Given the description of an element on the screen output the (x, y) to click on. 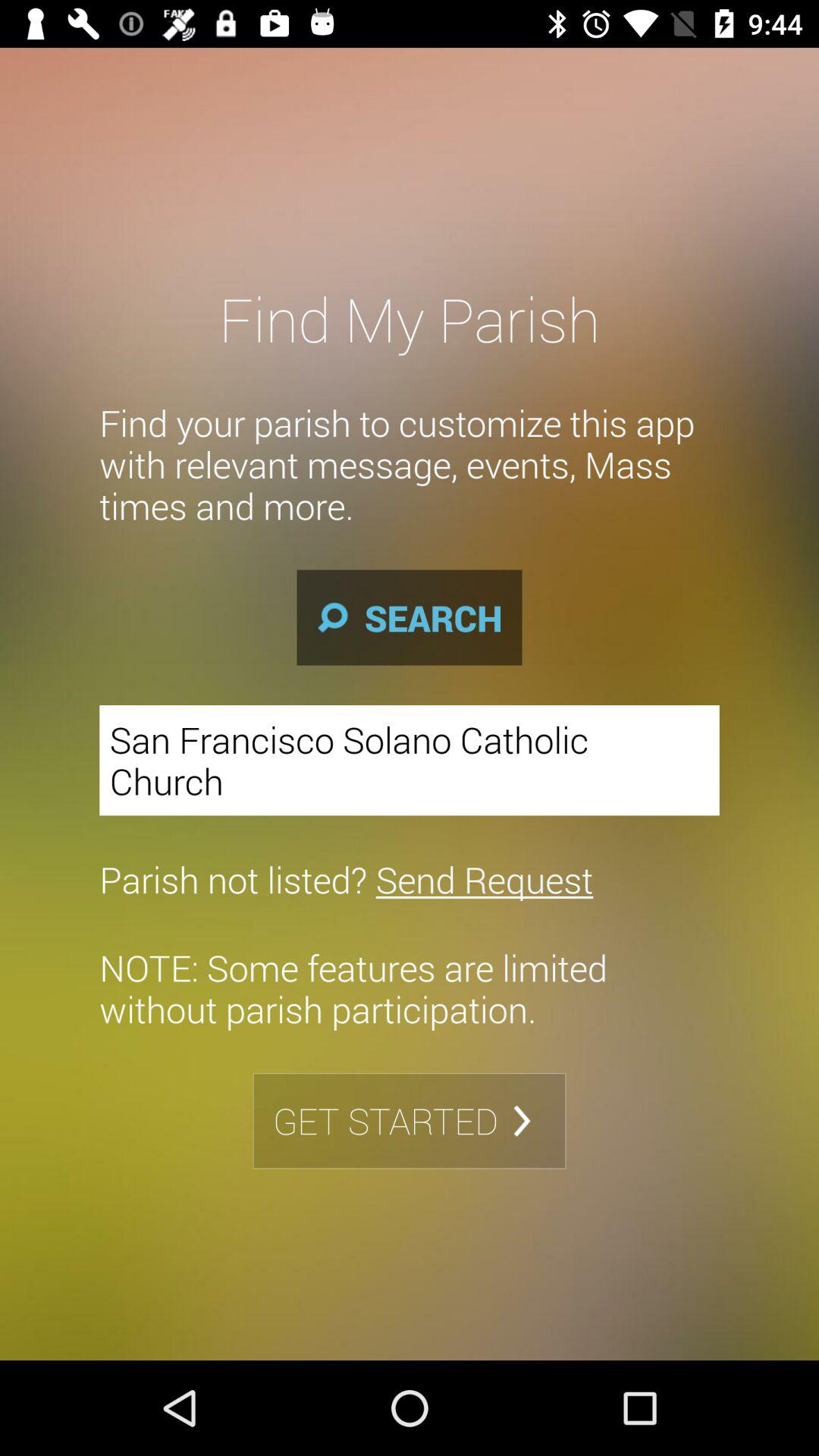
flip to the get started (409, 1120)
